Given the description of an element on the screen output the (x, y) to click on. 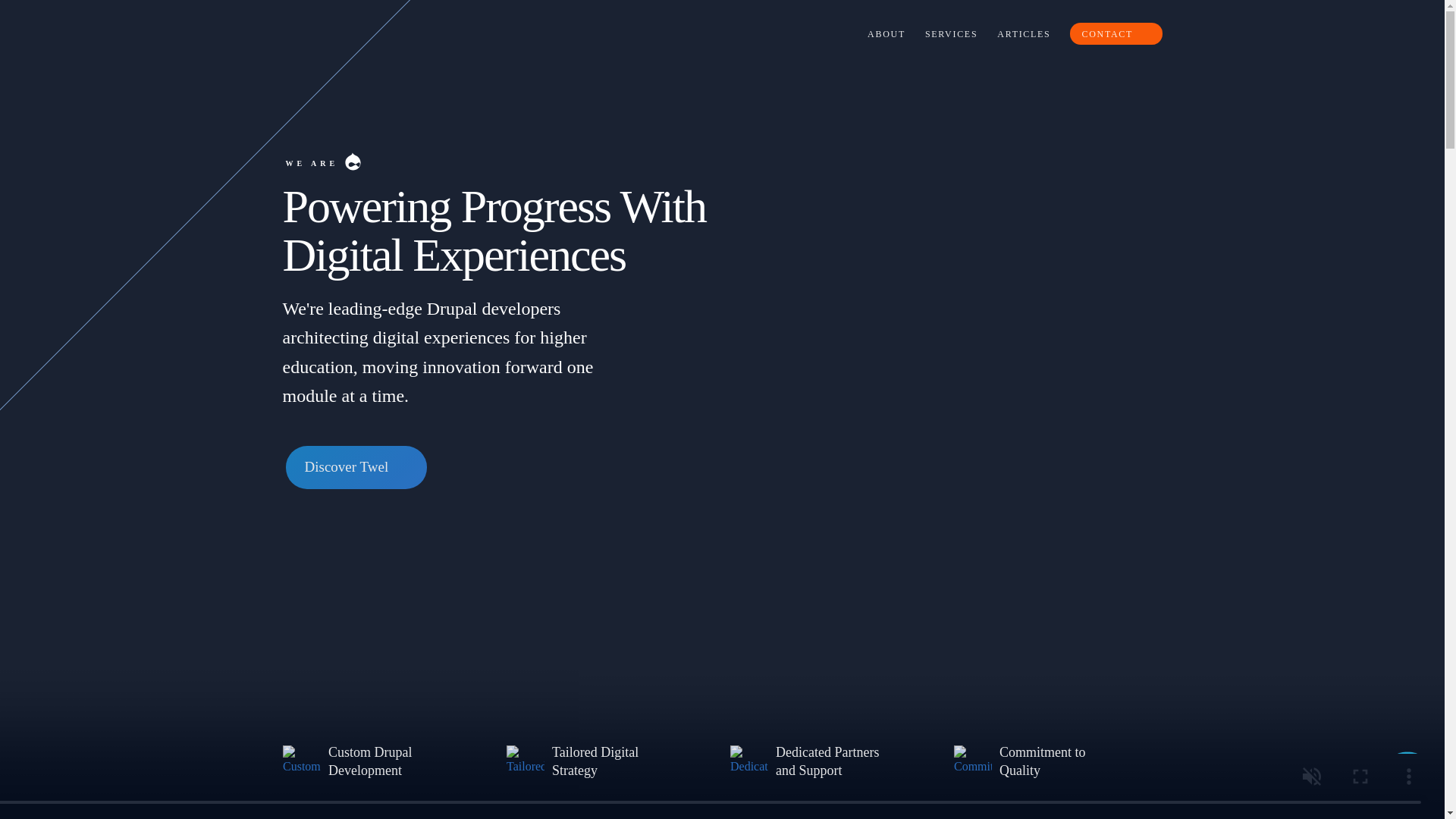
Home (304, 33)
SERVICES (948, 33)
ARTICLES (1021, 33)
Tailored Digital Strategy (525, 761)
Blog Posts (1021, 33)
About Twel (369, 761)
Custom Drupal Development (884, 33)
ABOUT (301, 761)
